Given the description of an element on the screen output the (x, y) to click on. 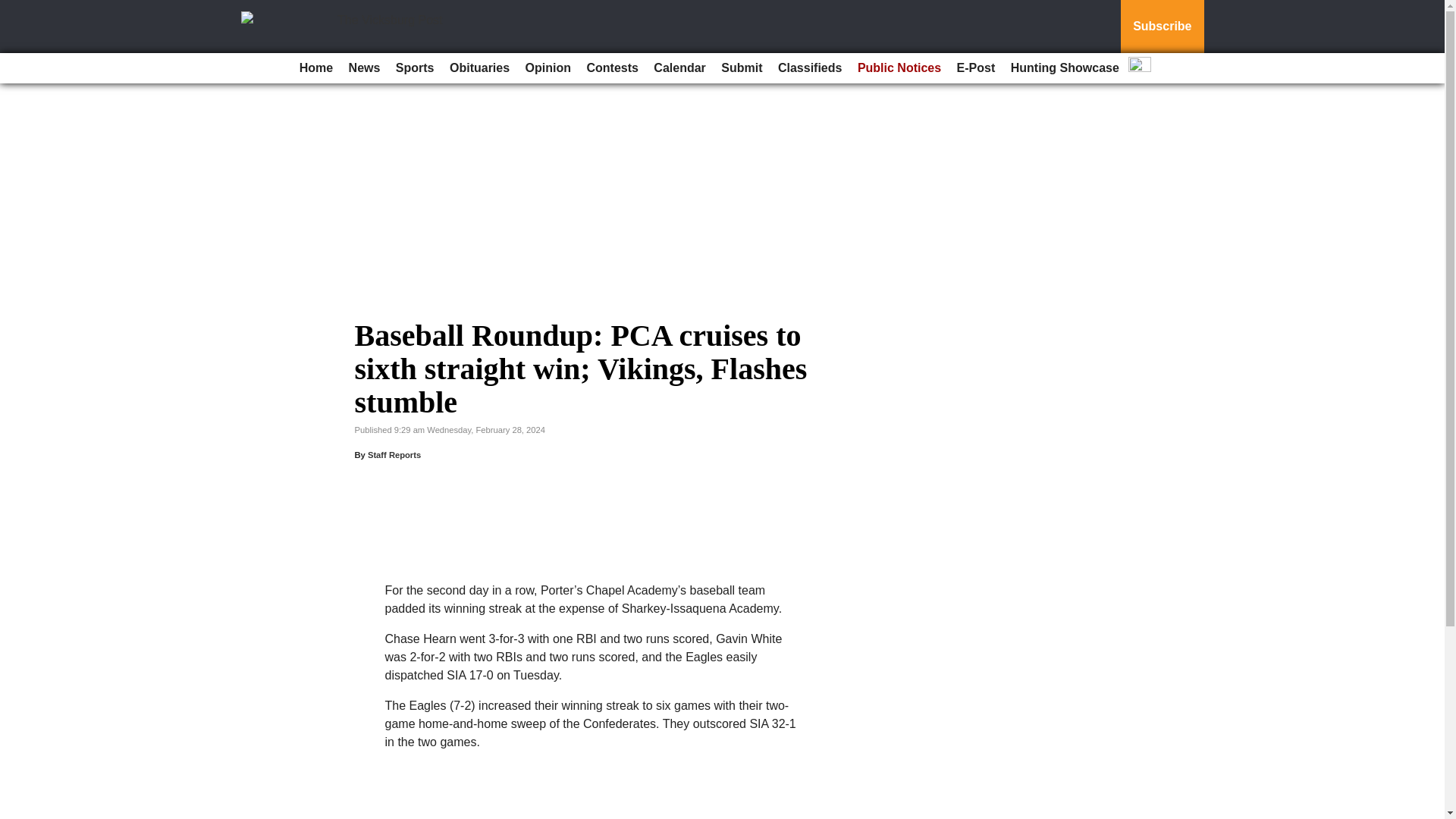
Opinion (547, 68)
Public Notices (899, 68)
E-Post (975, 68)
Obituaries (479, 68)
Staff Reports (394, 454)
Submit (741, 68)
Hunting Showcase (1064, 68)
Sports (415, 68)
Contests (611, 68)
Subscribe (1162, 26)
Go (13, 9)
News (364, 68)
Calendar (679, 68)
Classifieds (809, 68)
Home (316, 68)
